Given the description of an element on the screen output the (x, y) to click on. 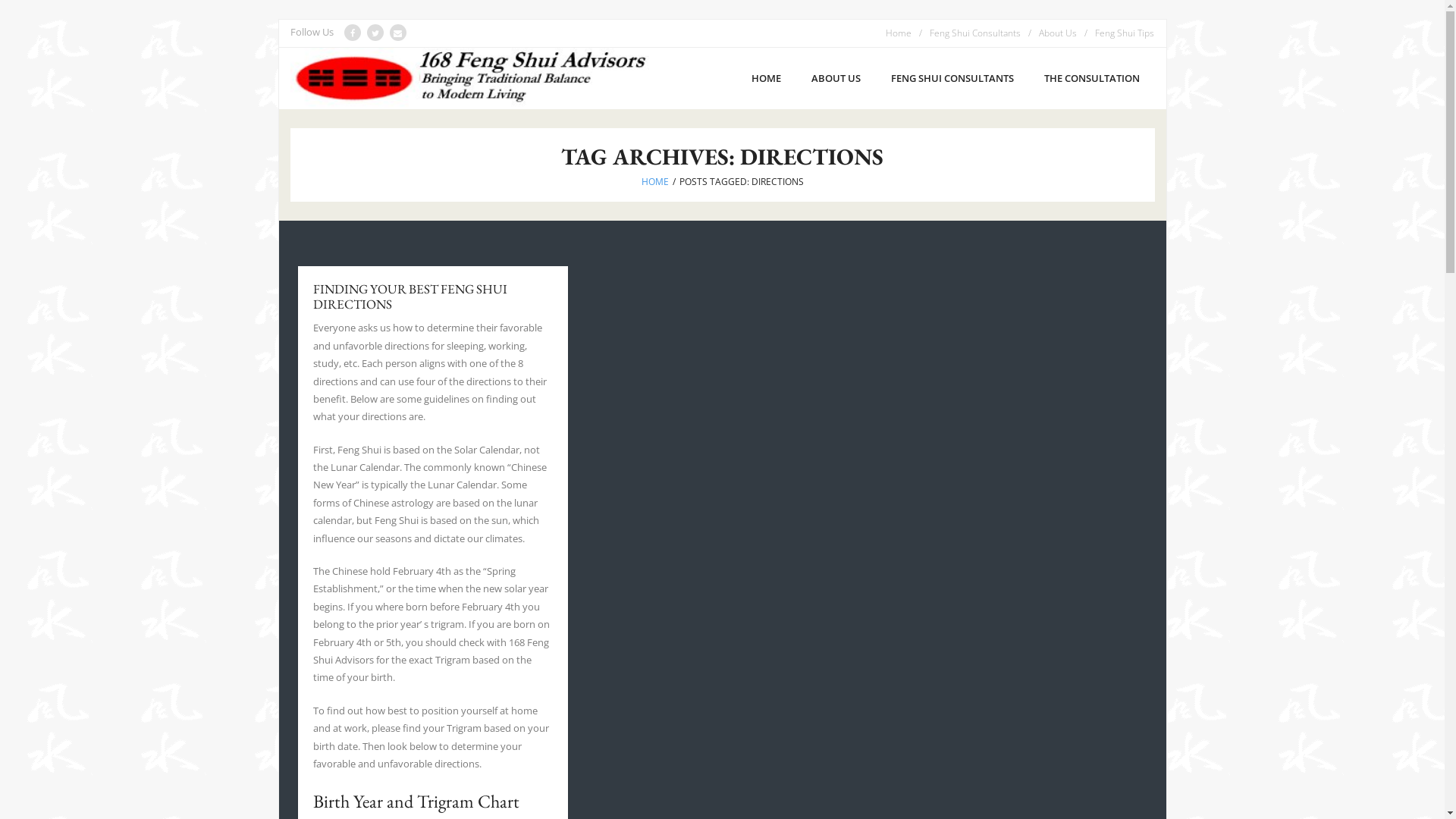
FINDING YOUR BEST FENG SHUI DIRECTIONS Element type: text (409, 296)
THE CONSULTATION Element type: text (1091, 78)
FENG SHUI CONSULTANTS Element type: text (951, 78)
HOME Element type: text (654, 181)
About Us Element type: text (1061, 33)
Facebook Element type: text (10, 9)
Home Element type: text (902, 33)
Feng Shui Consultants Element type: text (978, 33)
Feng Shui Tips Element type: text (1124, 33)
ABOUT US Element type: text (835, 78)
HOME Element type: text (765, 78)
